Given the description of an element on the screen output the (x, y) to click on. 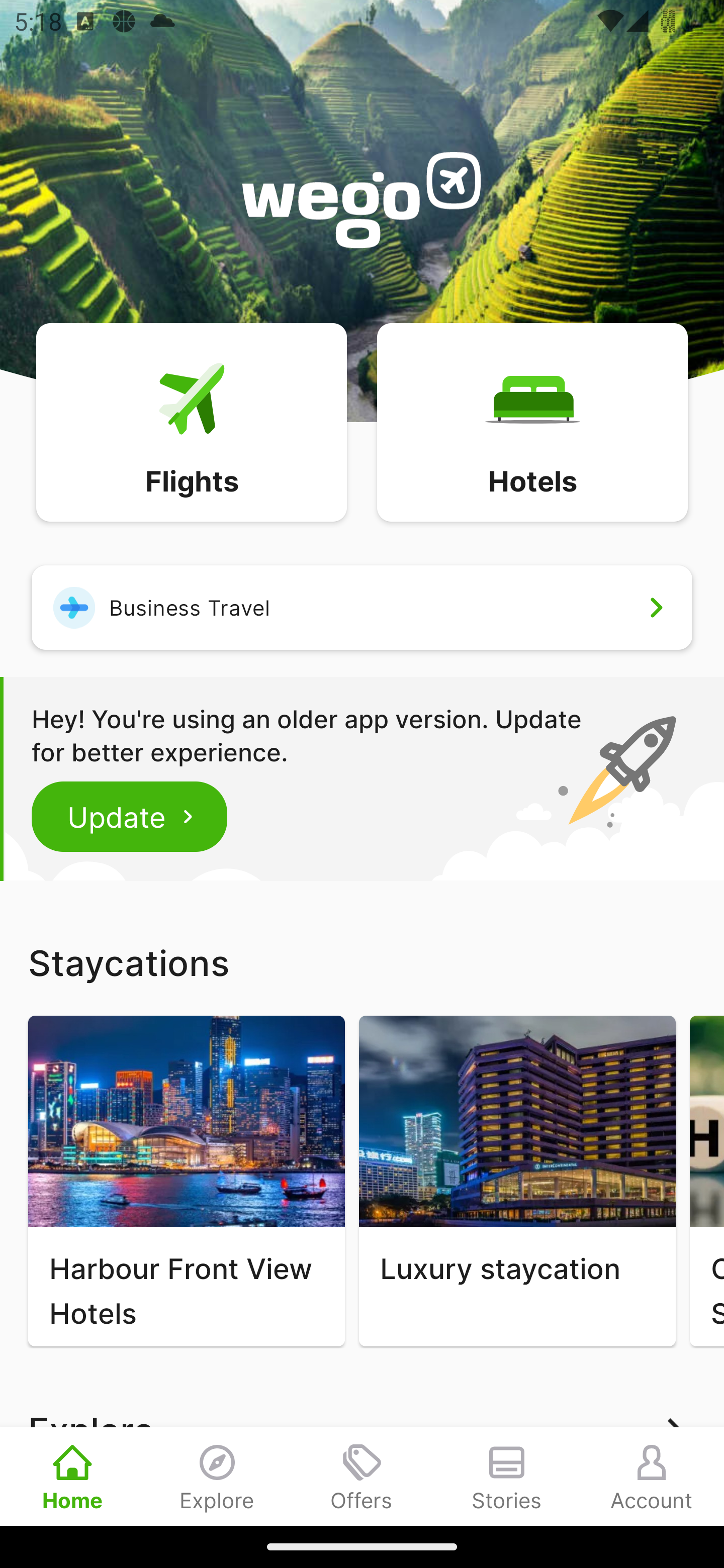
Flights (191, 420)
Hotels (532, 420)
Business Travel (361, 607)
Update (129, 815)
Staycations (362, 962)
Harbour Front View Hotels (186, 1181)
Luxury staycation (517, 1181)
Explore (216, 1475)
Offers (361, 1475)
Stories (506, 1475)
Account (651, 1475)
